Given the description of an element on the screen output the (x, y) to click on. 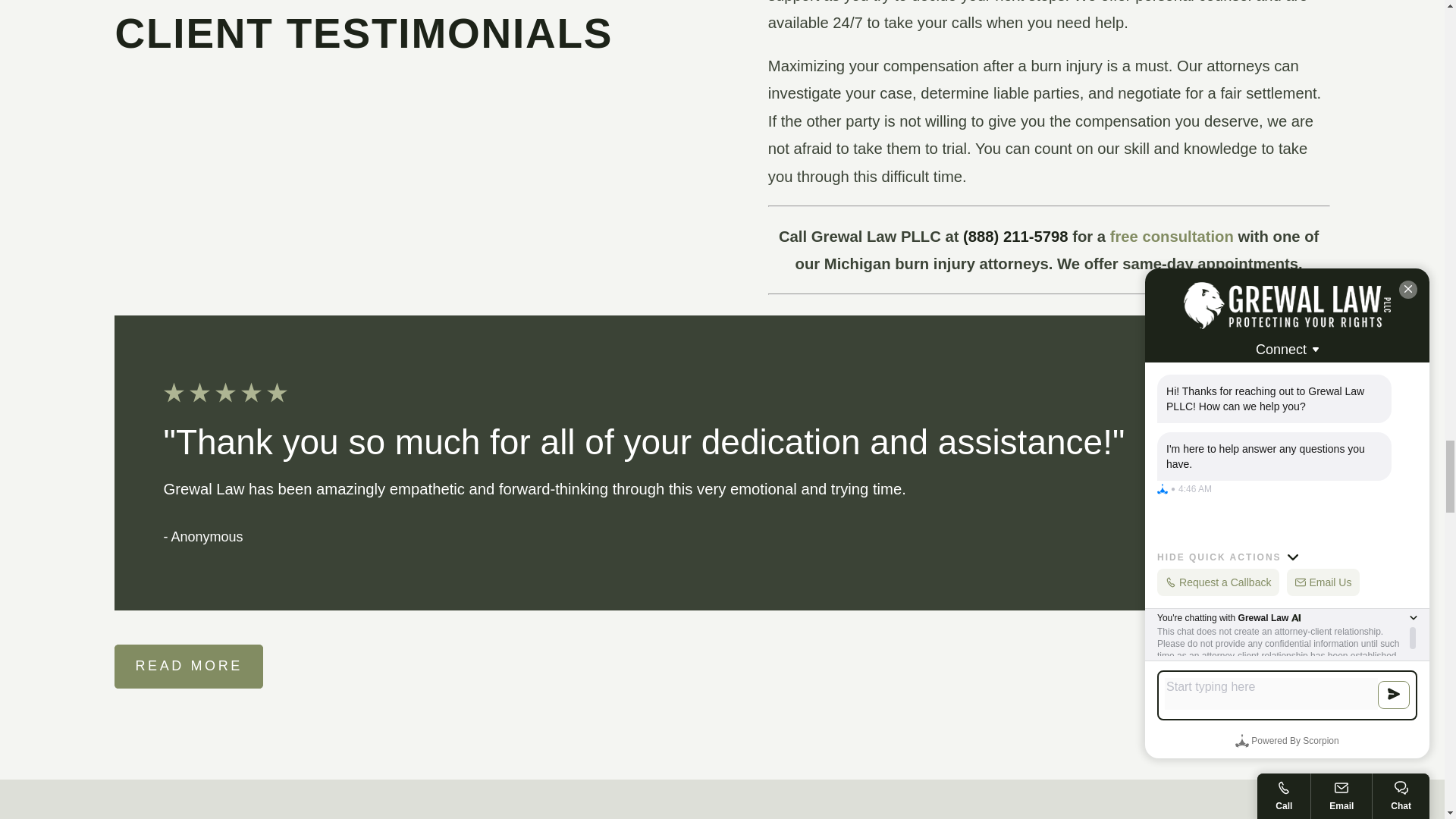
5 Star Rating (722, 392)
